Given the description of an element on the screen output the (x, y) to click on. 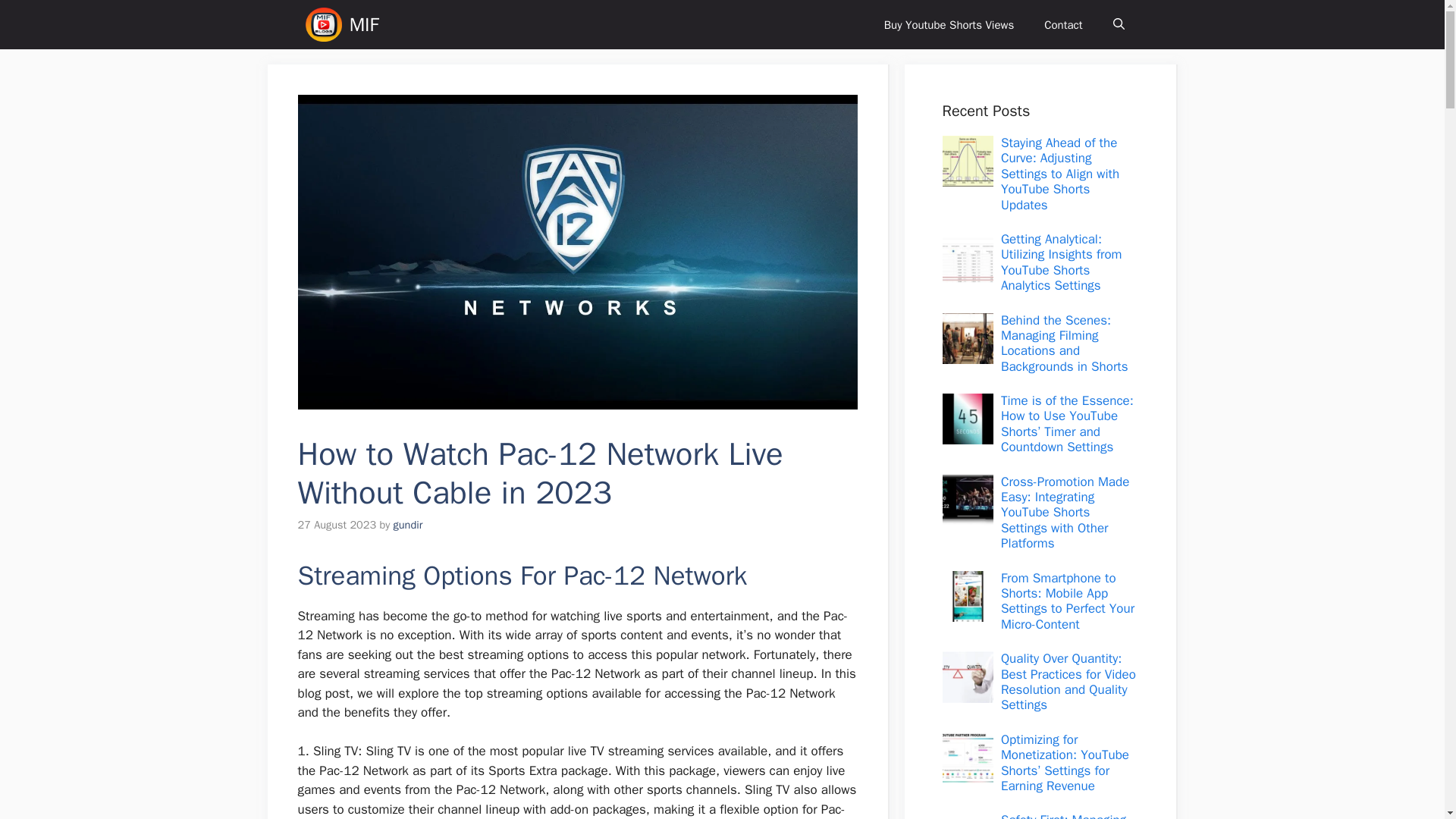
View all posts by gundir (408, 524)
gundir (408, 524)
Contact (1063, 23)
Buy Youtube Shorts Views (949, 23)
